Given the description of an element on the screen output the (x, y) to click on. 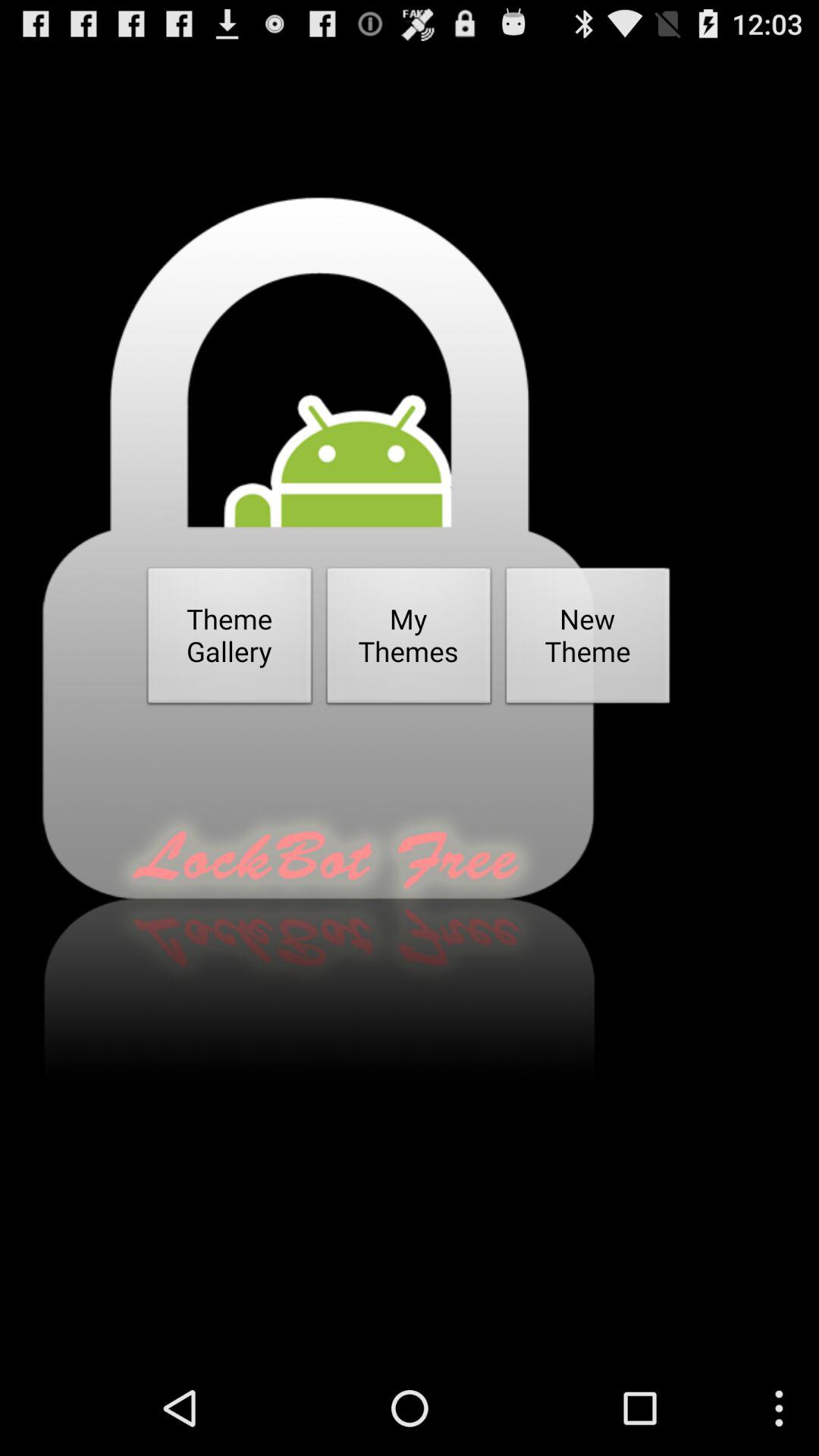
swipe until theme gallery item (229, 639)
